Given the description of an element on the screen output the (x, y) to click on. 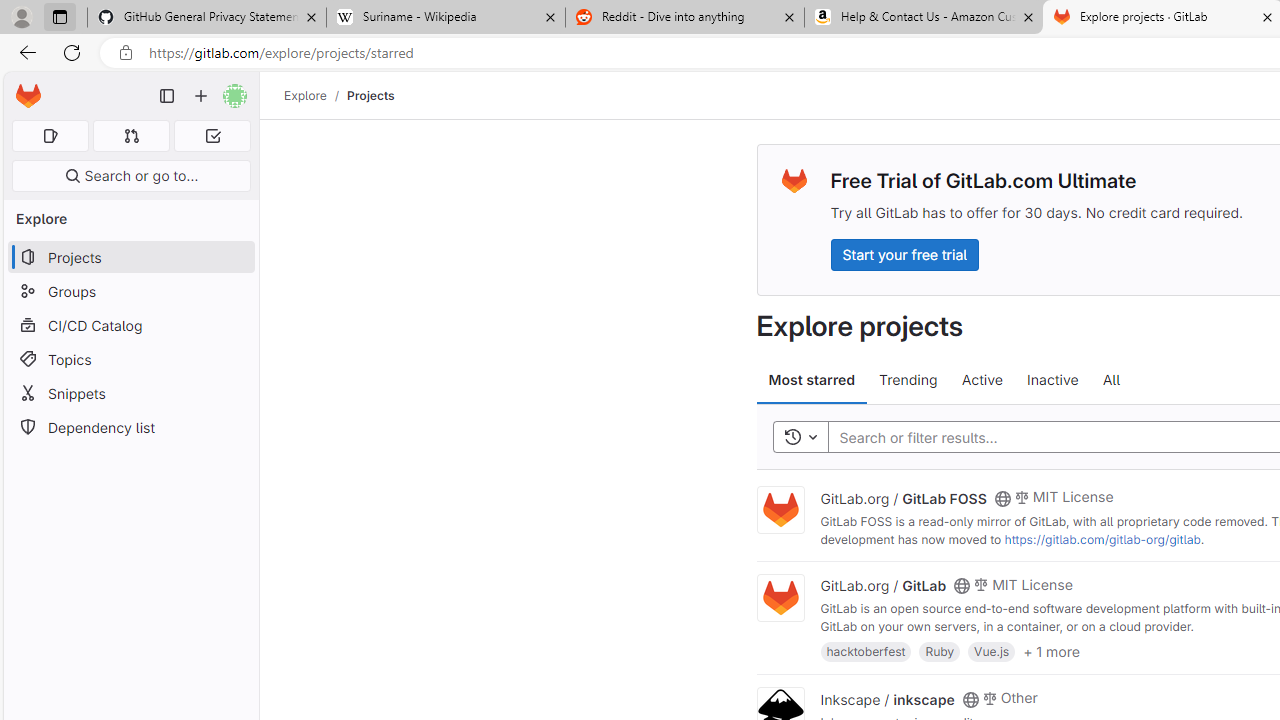
Suriname - Wikipedia (445, 17)
Start your free trial (904, 254)
CI/CD Catalog (130, 325)
Class: s16 (970, 699)
Dependency list (130, 427)
Most starred (811, 379)
https://gitlab.com/gitlab-org/gitlab (1101, 539)
To-Do list 0 (212, 136)
Trending (907, 379)
CI/CD Catalog (130, 325)
Projects (370, 95)
